Given the description of an element on the screen output the (x, y) to click on. 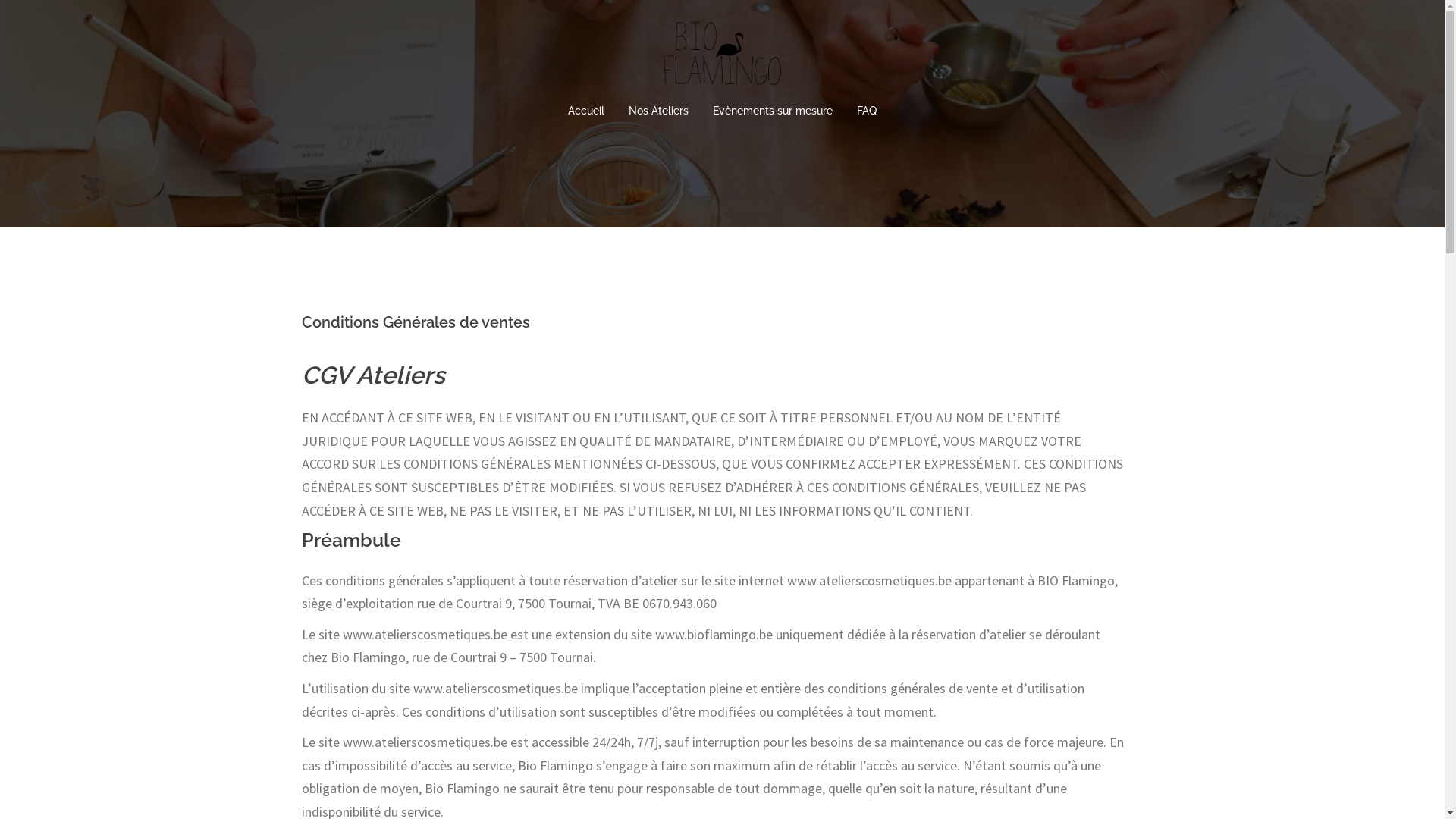
FAQ Element type: text (866, 111)
Nos Ateliers Element type: text (658, 111)
Accueil Element type: text (585, 111)
